Given the description of an element on the screen output the (x, y) to click on. 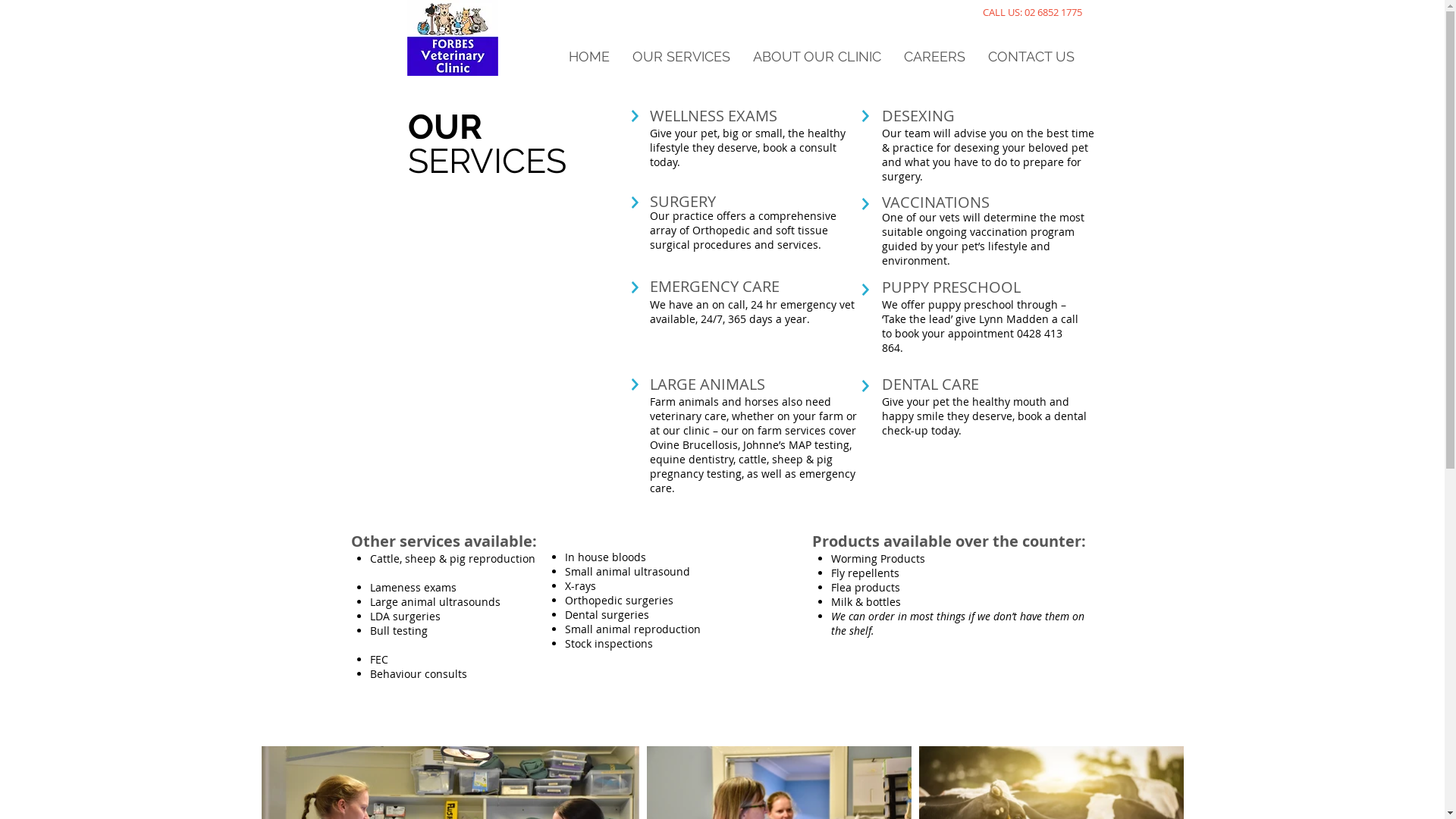
OUR SERVICES Element type: text (680, 56)
HOME Element type: text (588, 56)
ABOUT OUR CLINIC Element type: text (816, 56)
CAREERS Element type: text (933, 56)
CONTACT US Element type: text (1030, 56)
